Given the description of an element on the screen output the (x, y) to click on. 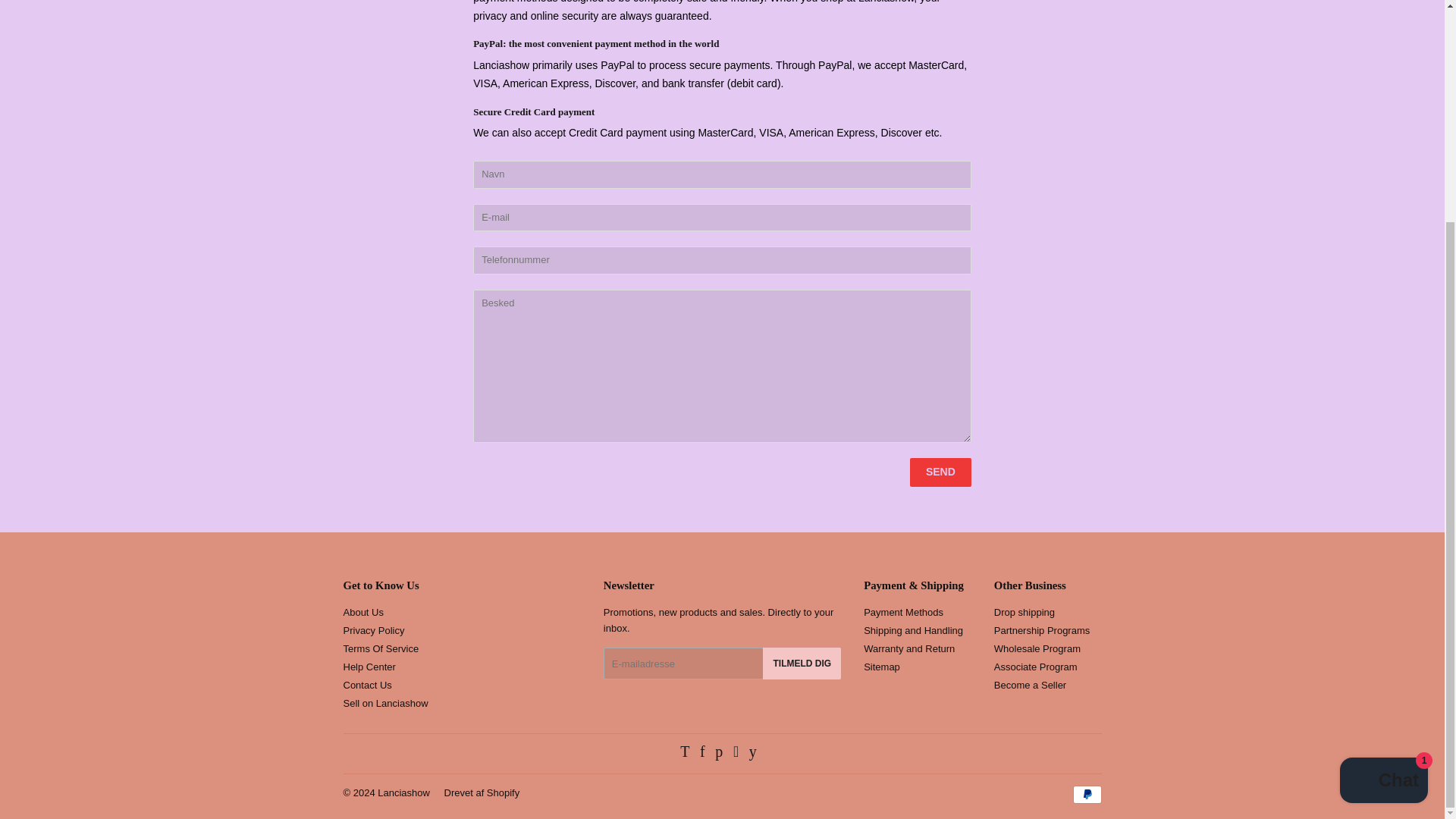
PayPal (1085, 794)
Send (940, 471)
Shopify-webshopchat (1383, 487)
